Given the description of an element on the screen output the (x, y) to click on. 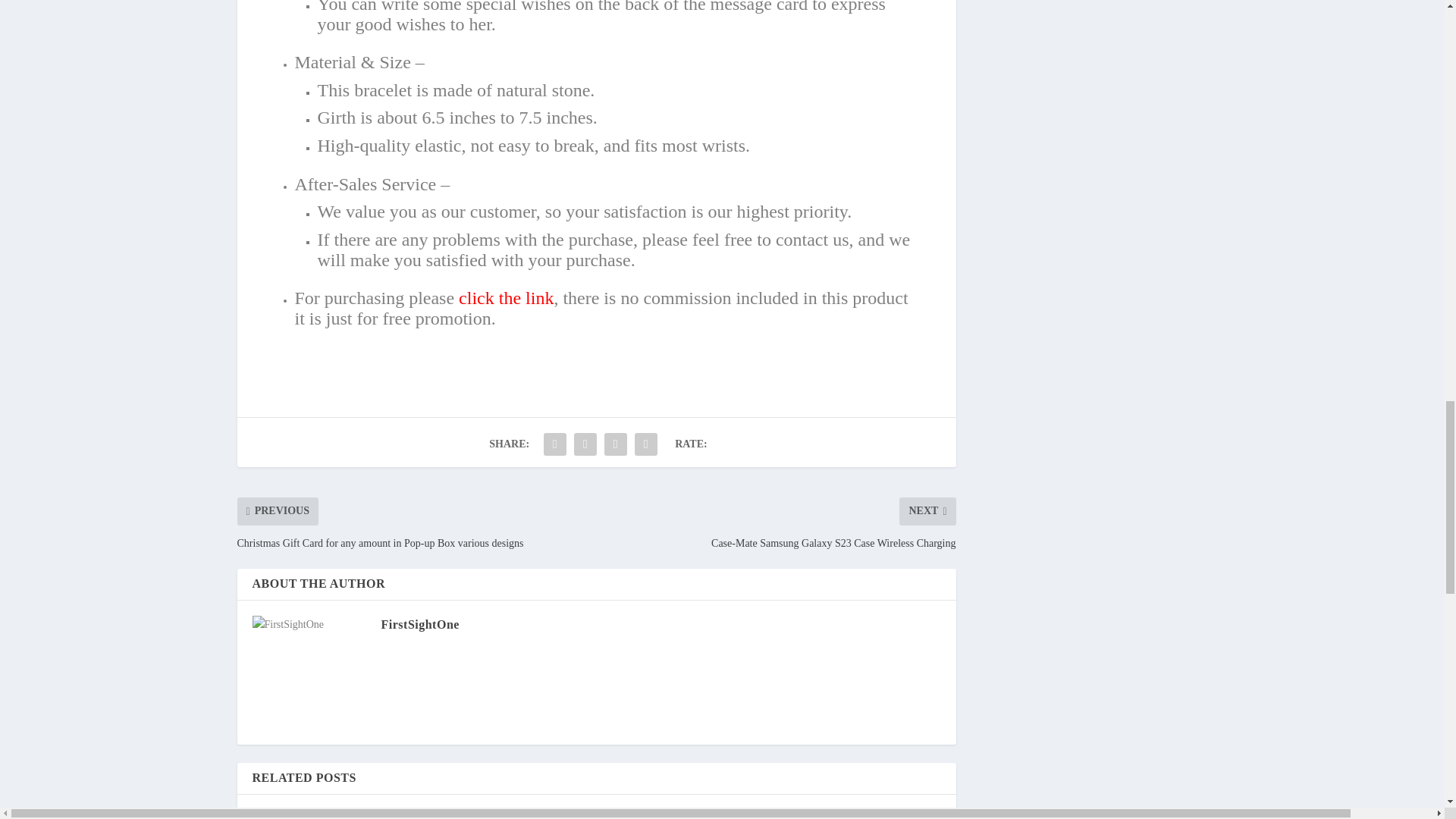
click the link (505, 297)
No. 5 by Chanel for Women, Eau De Parfum Spray (331, 814)
View all posts by FirstSightOne (419, 624)
